Given the description of an element on the screen output the (x, y) to click on. 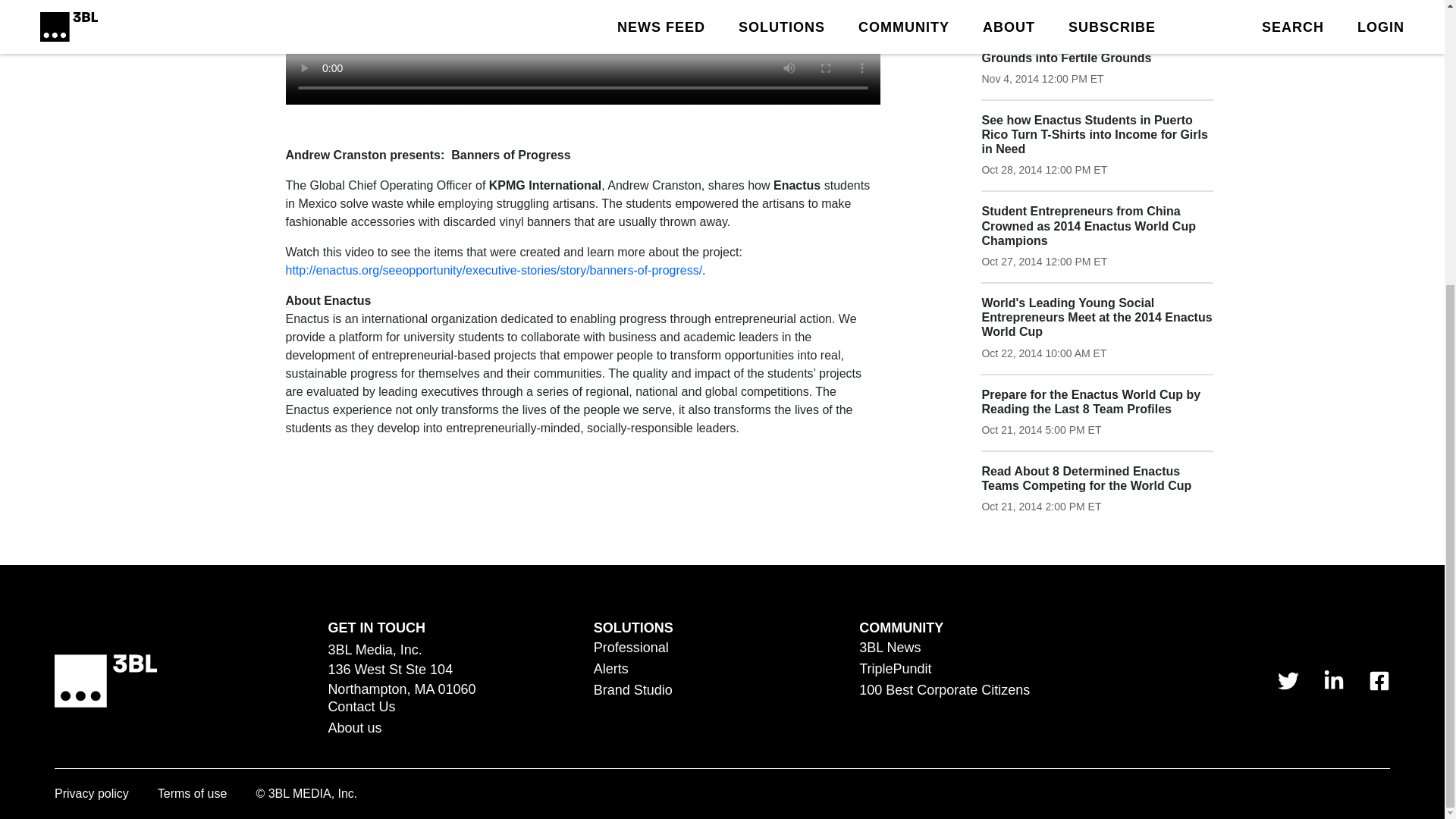
link to 3 B L Media's Facebook (1379, 680)
link to 3 B L Media's Linkedin (1333, 680)
link to 3 B L Media's Twitter (1288, 680)
